Given the description of an element on the screen output the (x, y) to click on. 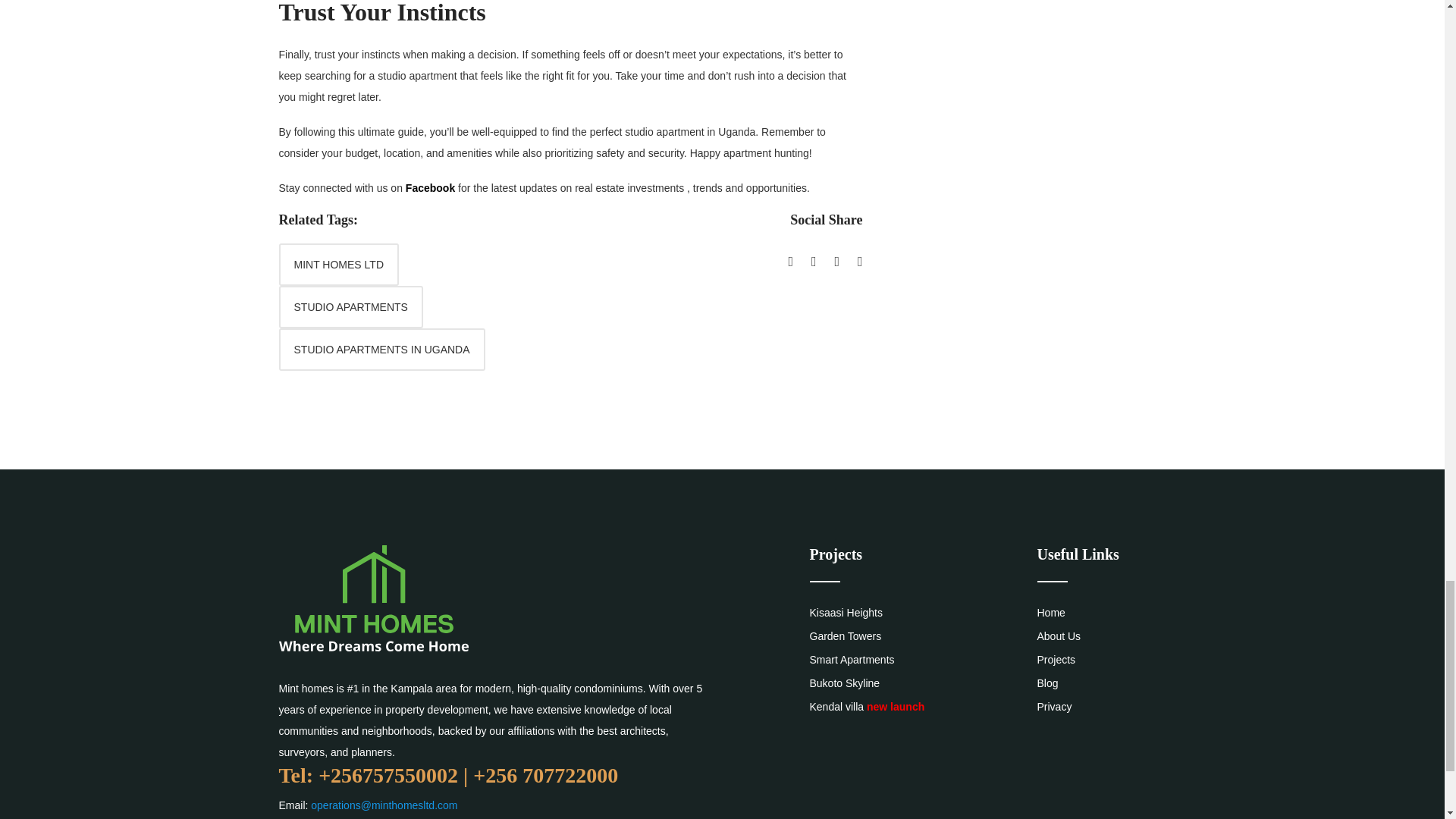
Facebook (430, 187)
STUDIO APARTMENTS IN UGANDA (381, 349)
MINT HOMES LTD (338, 264)
STUDIO APARTMENTS (351, 306)
